Given the description of an element on the screen output the (x, y) to click on. 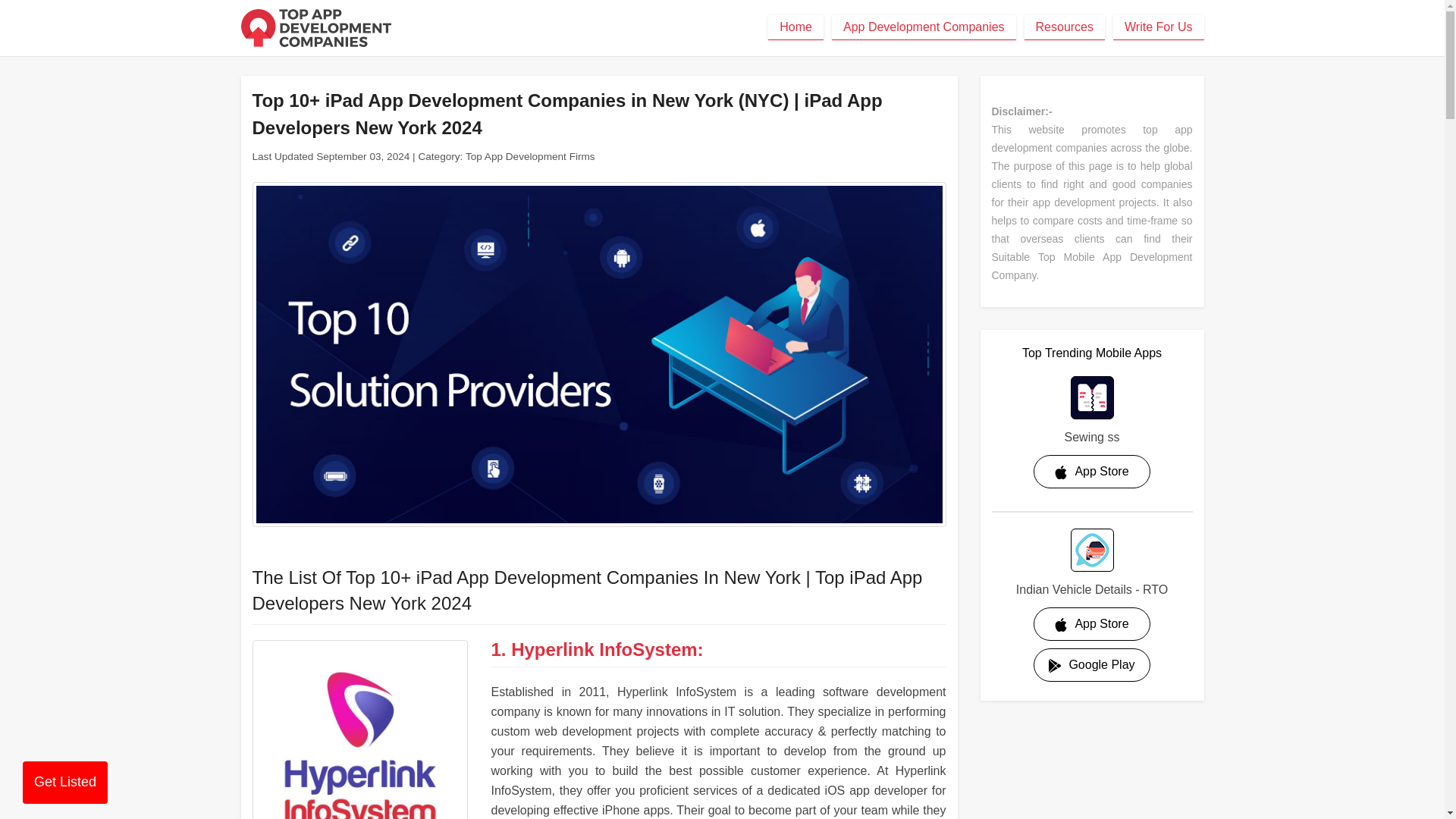
App Development Companies (923, 27)
Home (796, 27)
Resources (1065, 27)
Hyperlink InfoSystem (359, 729)
Write For Us (1158, 27)
Hyperlink InfoSystem (604, 649)
